Given the description of an element on the screen output the (x, y) to click on. 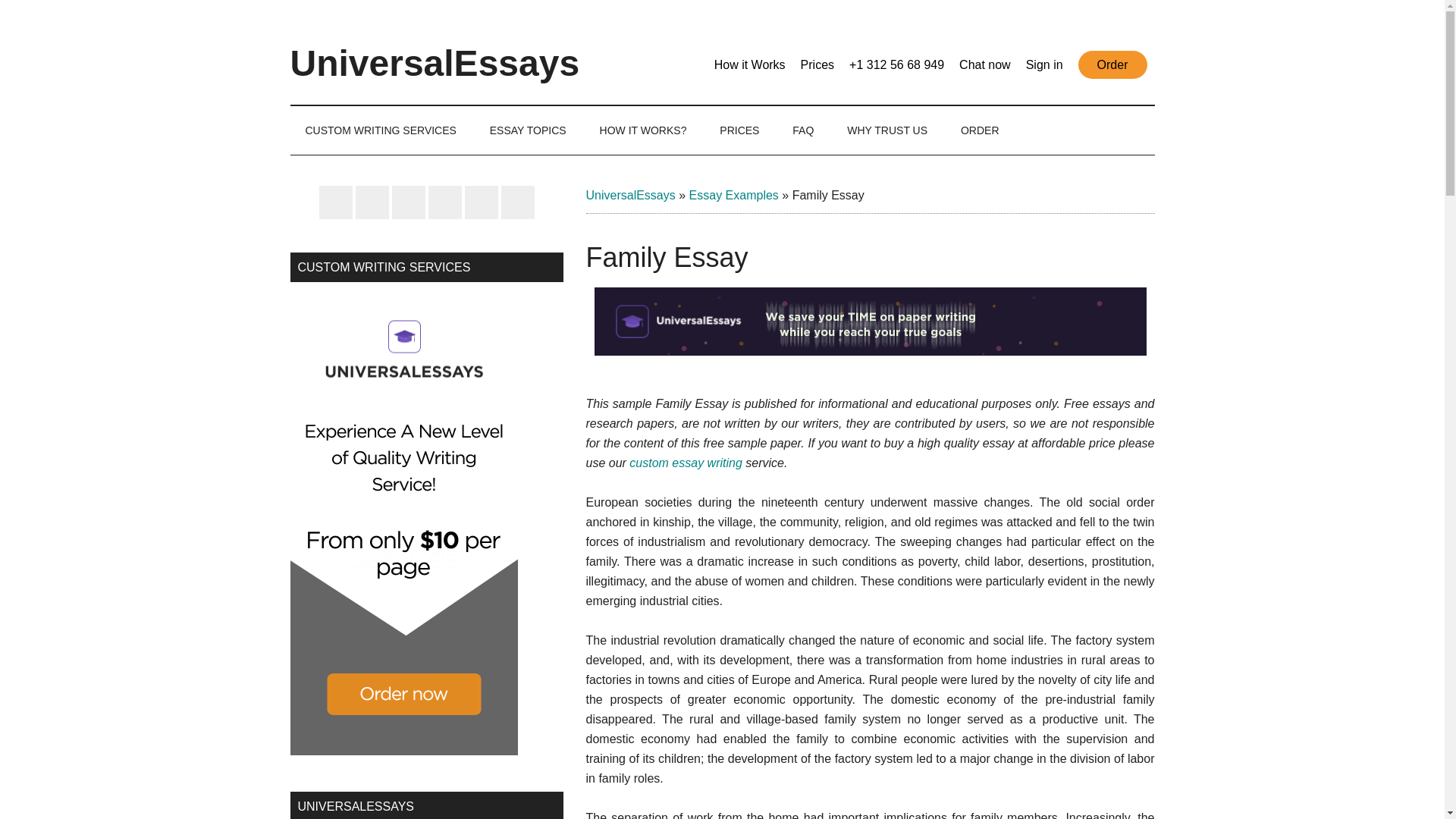
WHY TRUST US (886, 130)
Order (1112, 64)
ESSAY TOPICS (527, 130)
custom essay writing (685, 462)
UniversalEssays (630, 195)
Essay Examples (733, 195)
Prices (817, 64)
How it Works (750, 64)
FAQ (802, 130)
